Given the description of an element on the screen output the (x, y) to click on. 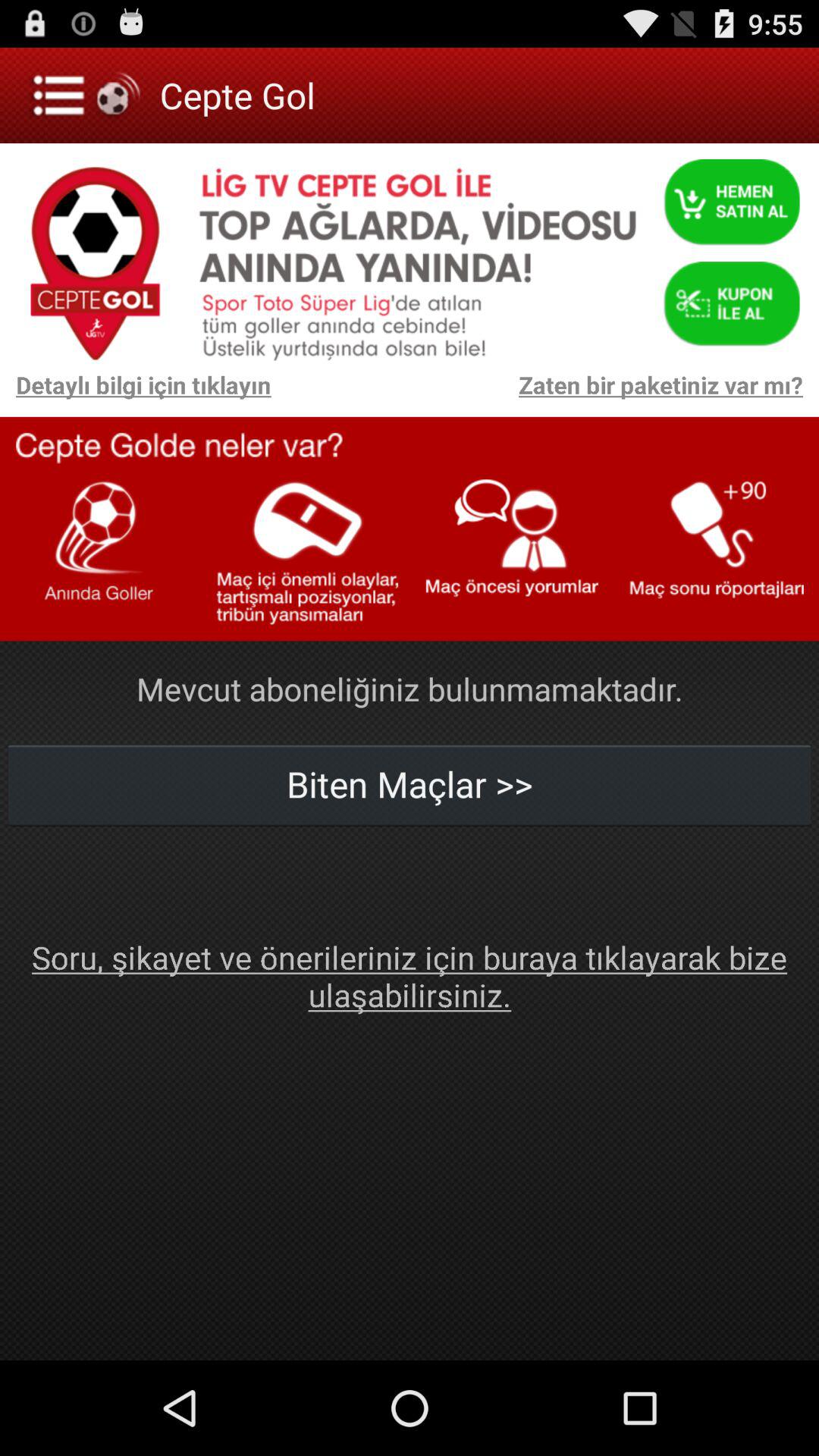
scroll until zaten bir paketiniz item (545, 392)
